Given the description of an element on the screen output the (x, y) to click on. 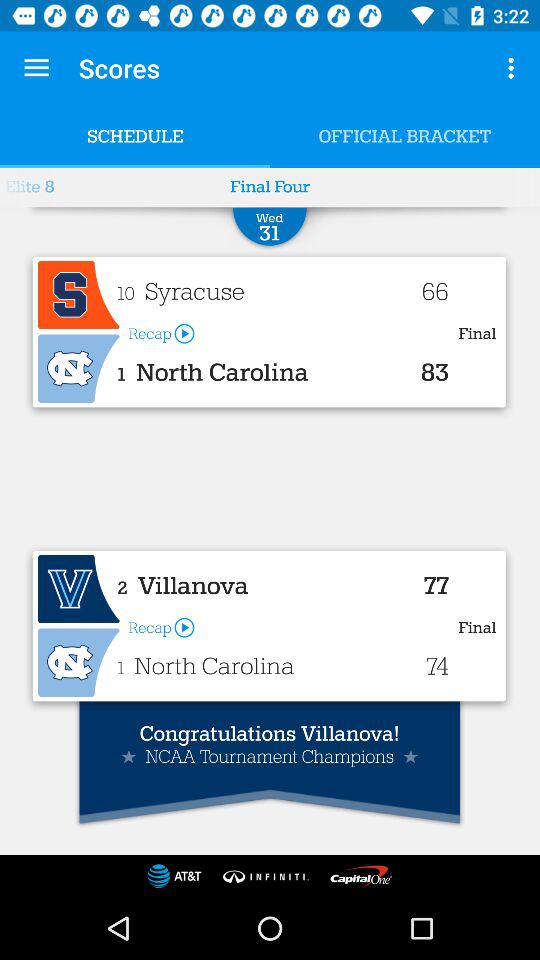
syracuse score details (78, 295)
